Given the description of an element on the screen output the (x, y) to click on. 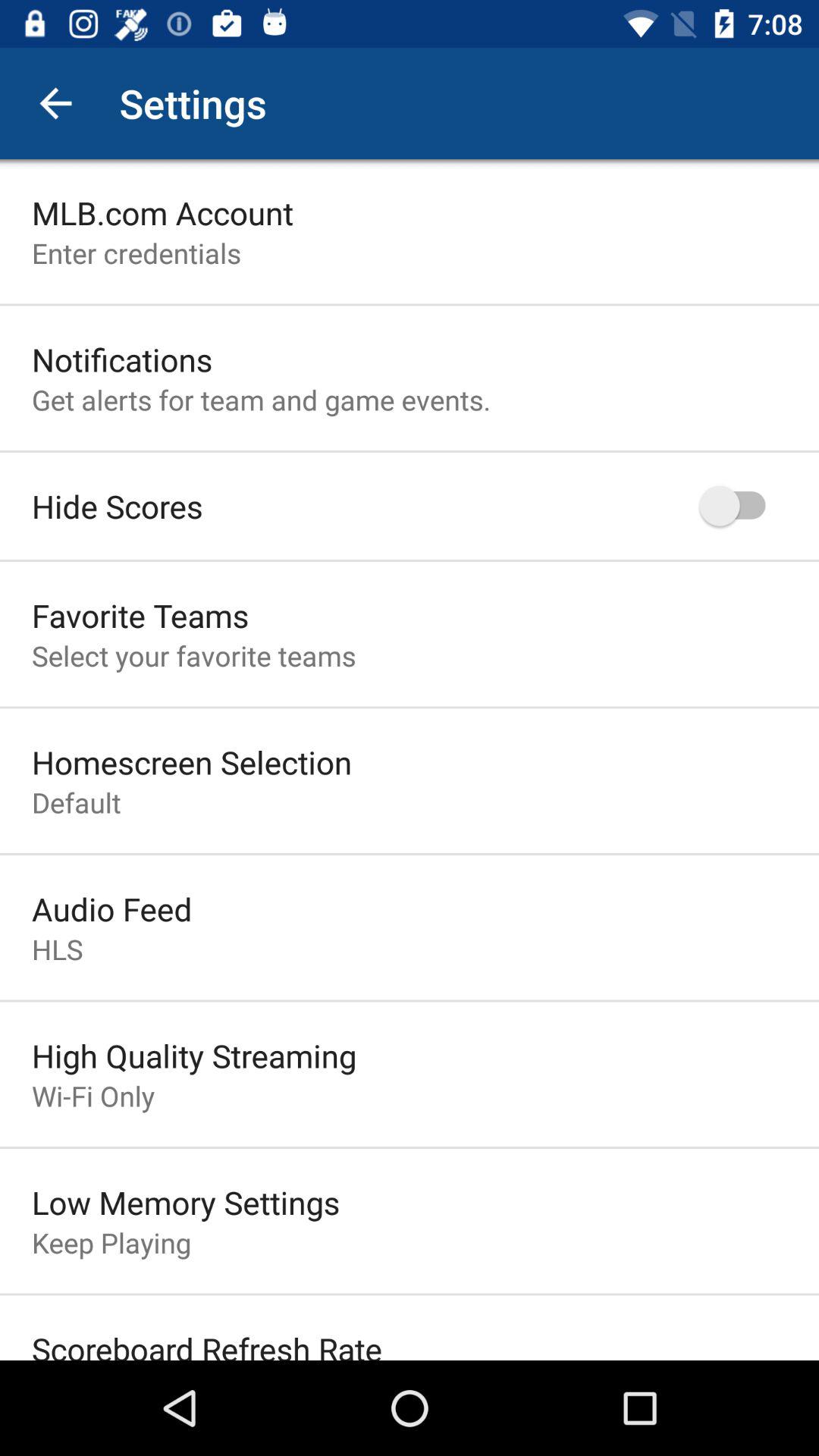
jump until keep playing (111, 1242)
